Given the description of an element on the screen output the (x, y) to click on. 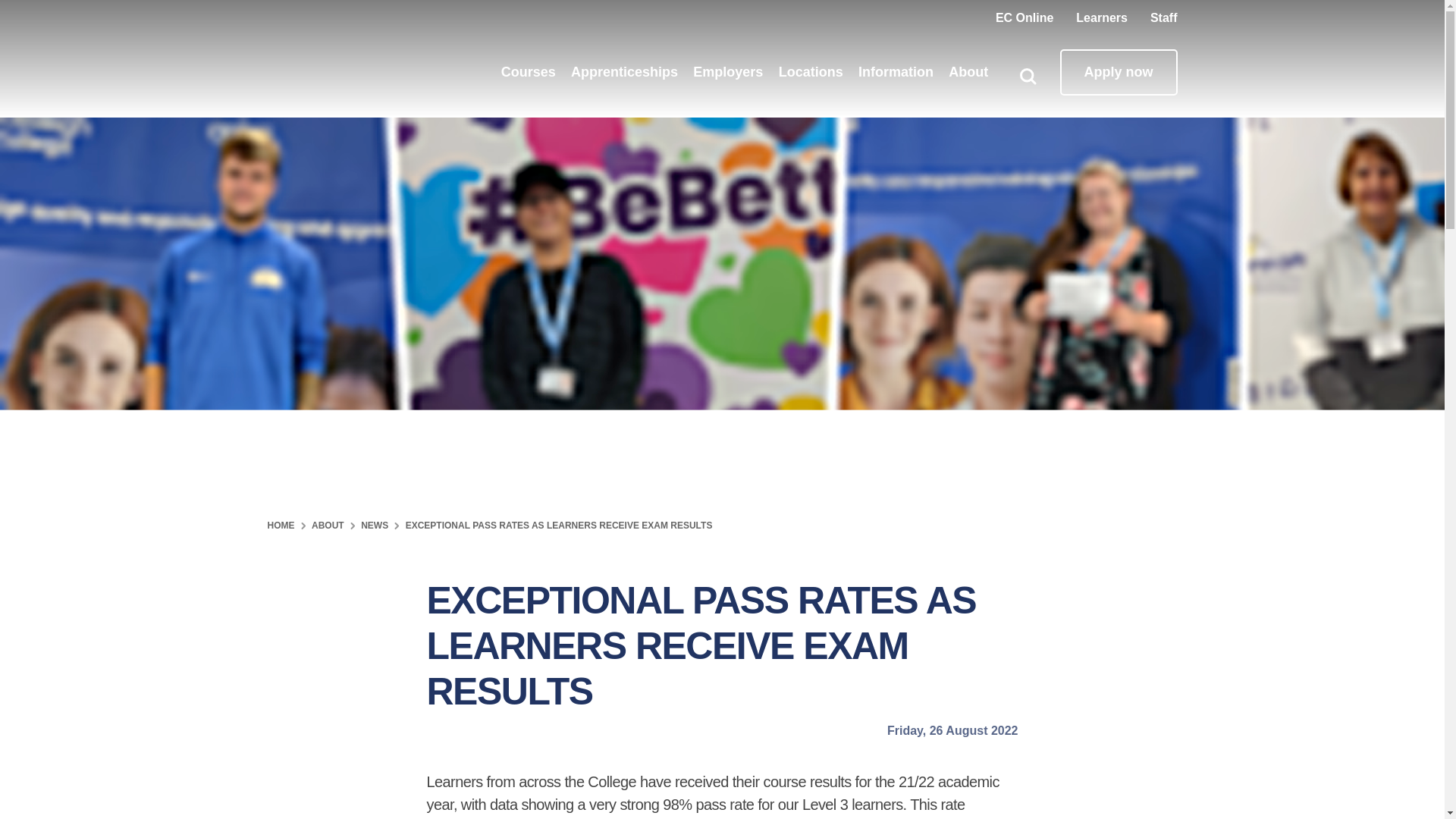
Employers (727, 71)
Locations (810, 71)
Apprenticeships (624, 71)
Courses (528, 71)
Staff (1163, 18)
EC Online (1023, 18)
Learners (1100, 18)
